Given the description of an element on the screen output the (x, y) to click on. 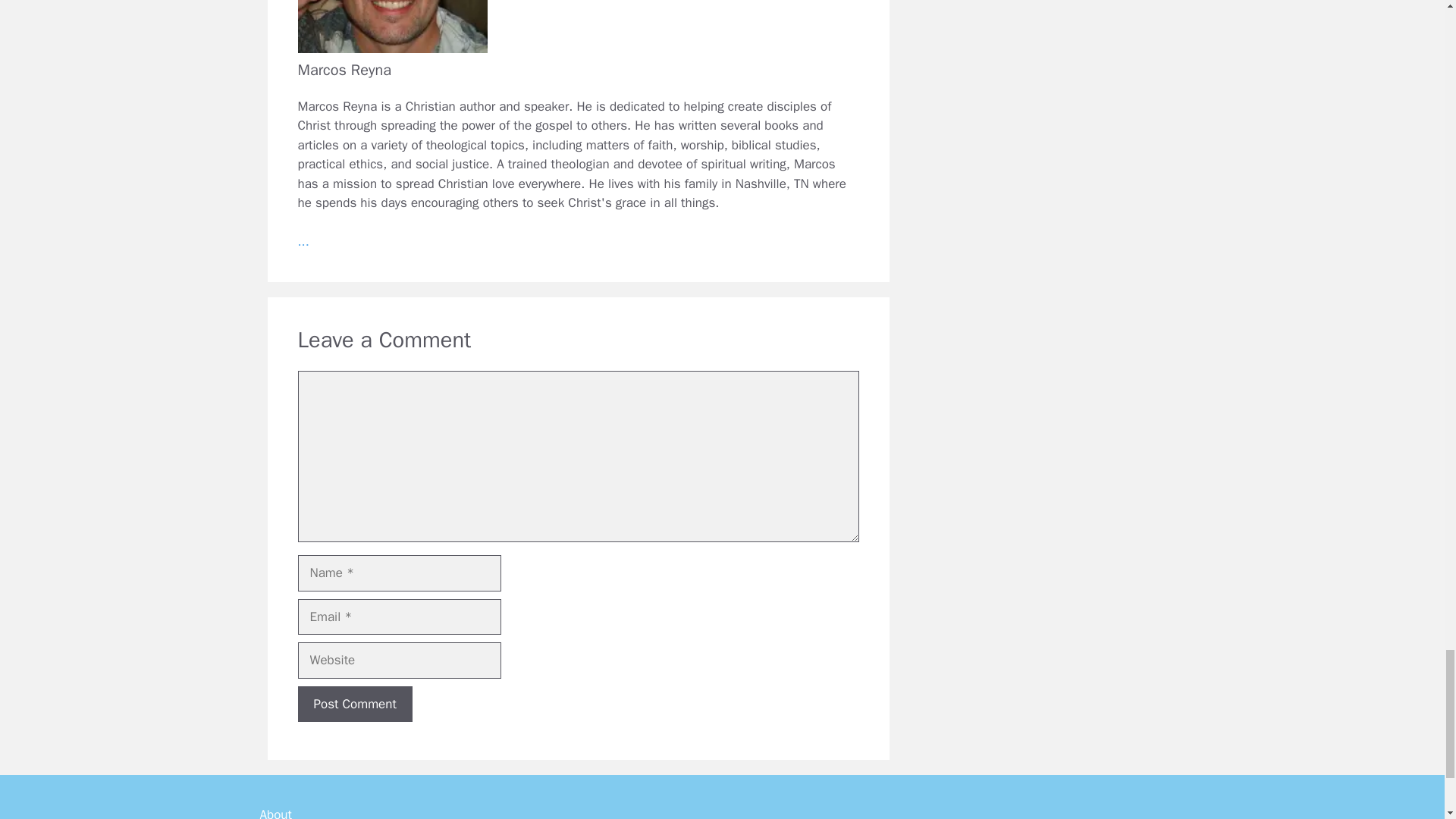
Post Comment (354, 704)
Post Comment (354, 704)
